Given the description of an element on the screen output the (x, y) to click on. 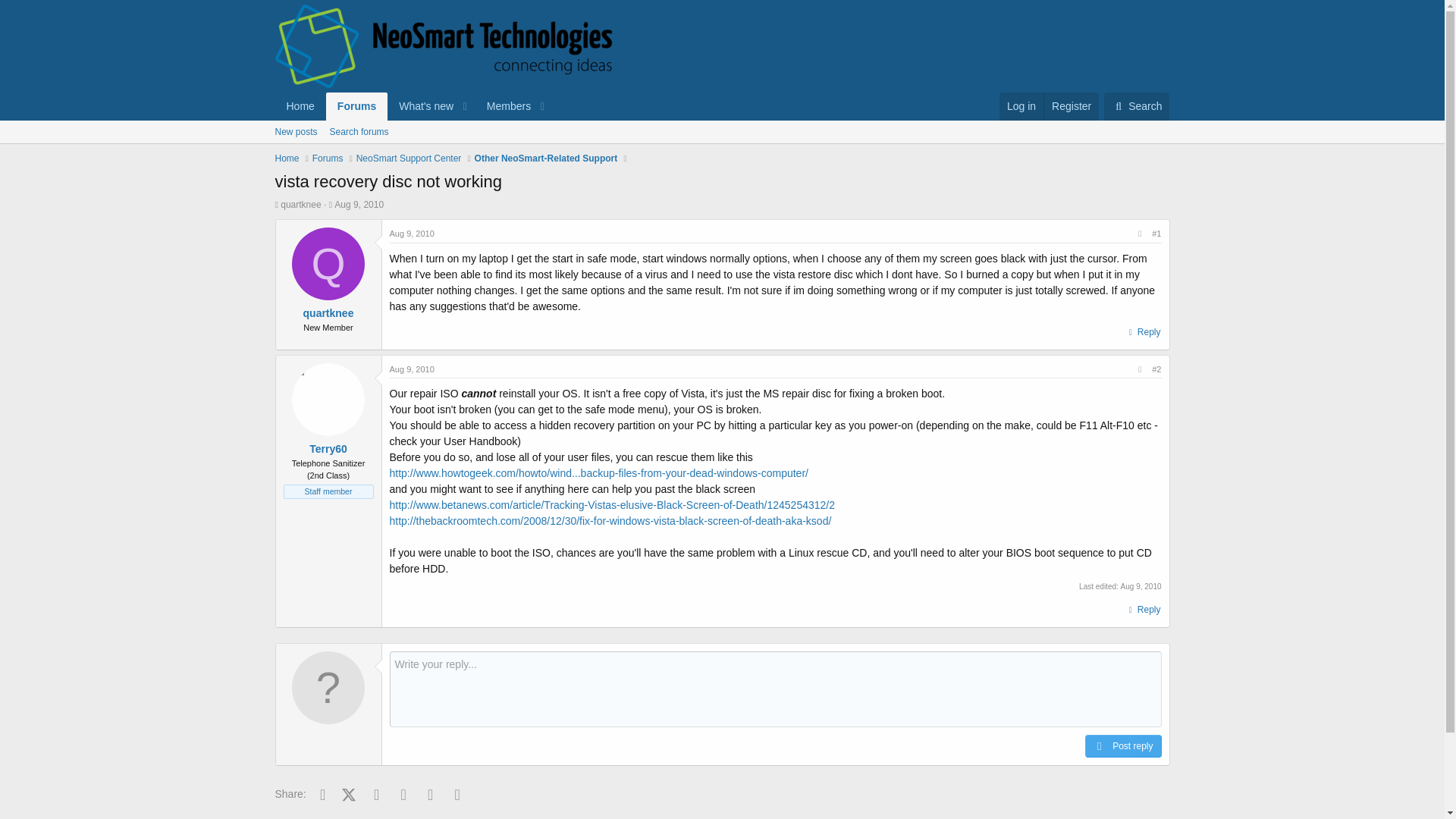
NeoSmart Support Center (408, 158)
Q (328, 263)
Other NeoSmart-Related Support (545, 158)
Forums (356, 106)
Search forums (358, 131)
Aug 9, 2010 at 5:38 AM (1141, 586)
Aug 9, 2010 (411, 233)
quartknee (327, 313)
Aug 9, 2010 at 12:44 AM (411, 233)
Forums (328, 158)
